Given the description of an element on the screen output the (x, y) to click on. 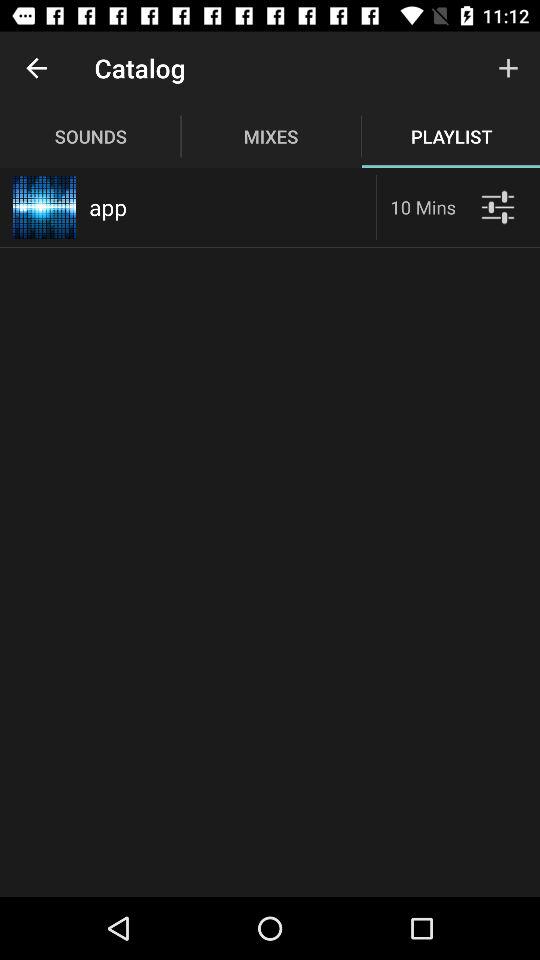
click icon to the left of catalog item (36, 68)
